Given the description of an element on the screen output the (x, y) to click on. 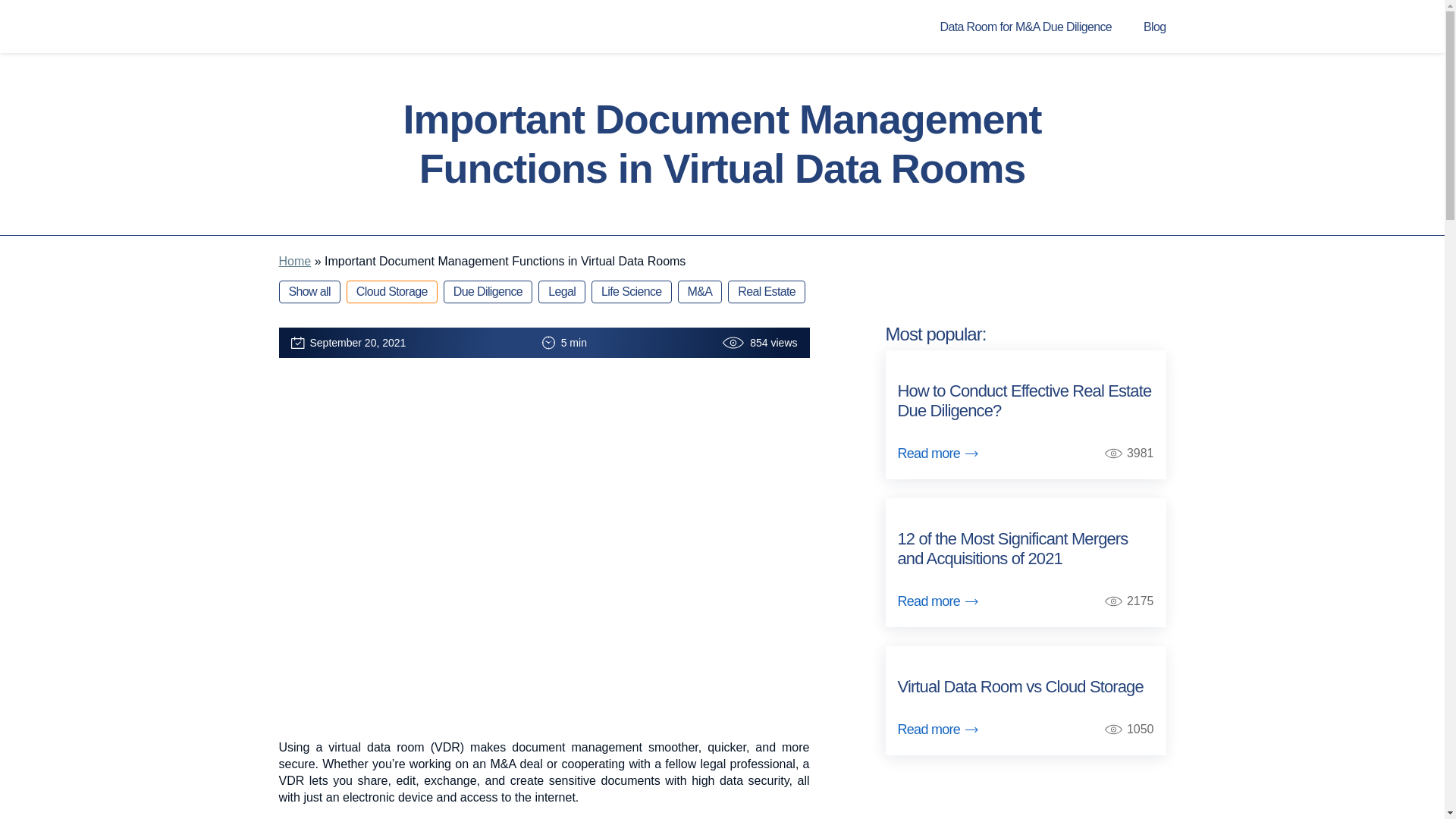
Legal (561, 291)
Show all (309, 291)
Real Estate (766, 291)
Read more (938, 729)
Blog (1154, 26)
Cloud Storage (392, 291)
Home (295, 260)
Due Diligence (488, 291)
Read more (938, 600)
Life Science (631, 291)
Read more (938, 453)
